Given the description of an element on the screen output the (x, y) to click on. 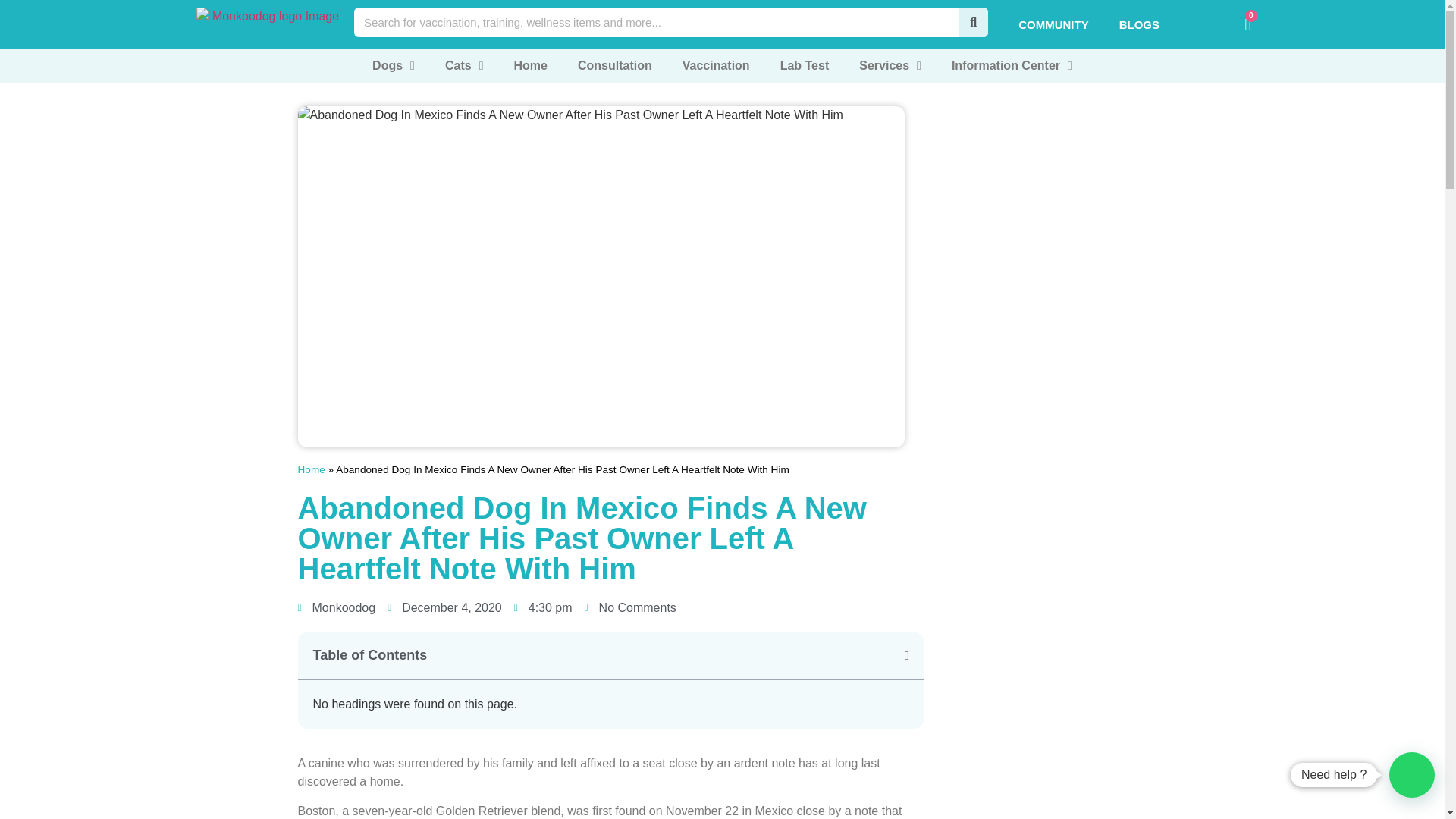
BLOGS (1138, 24)
Best Veterinary Service in India (267, 22)
COMMUNITY (1053, 24)
